Given the description of an element on the screen output the (x, y) to click on. 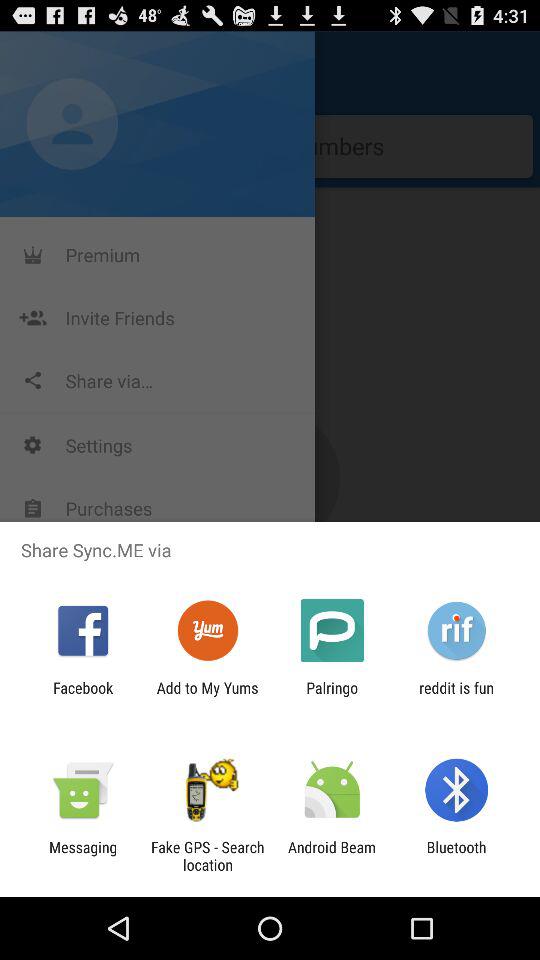
click the item next to bluetooth item (332, 856)
